Given the description of an element on the screen output the (x, y) to click on. 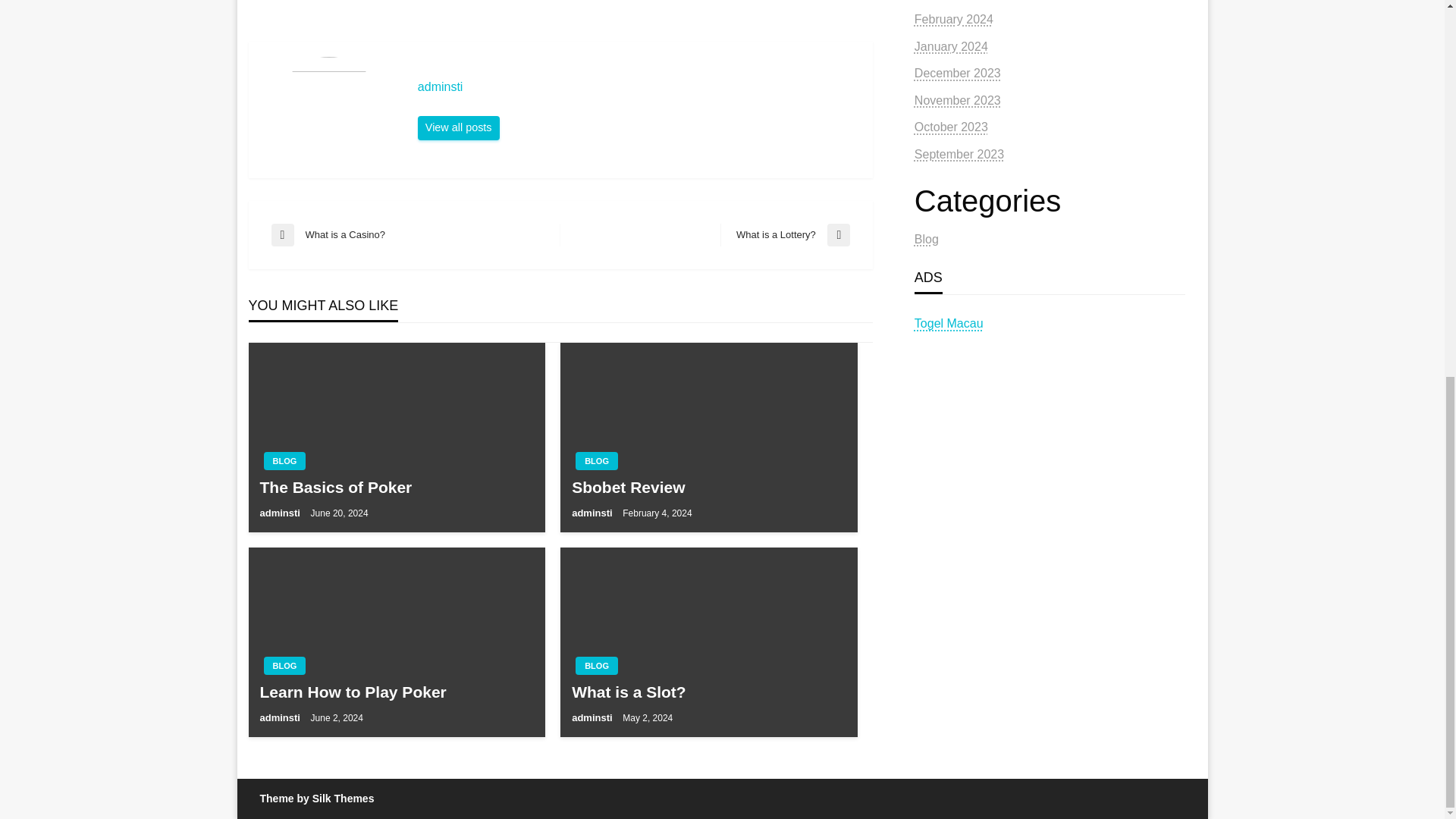
Learn How to Play Poker (396, 691)
BLOG (284, 665)
BLOG (284, 461)
adminsti (458, 128)
adminsti (593, 512)
The Basics of Poker (396, 486)
adminsti (637, 87)
adminsti (785, 234)
BLOG (593, 717)
adminsti (596, 665)
adminsti (280, 717)
What is a Slot? (280, 512)
adminsti (708, 691)
Sbobet Review (637, 87)
